Given the description of an element on the screen output the (x, y) to click on. 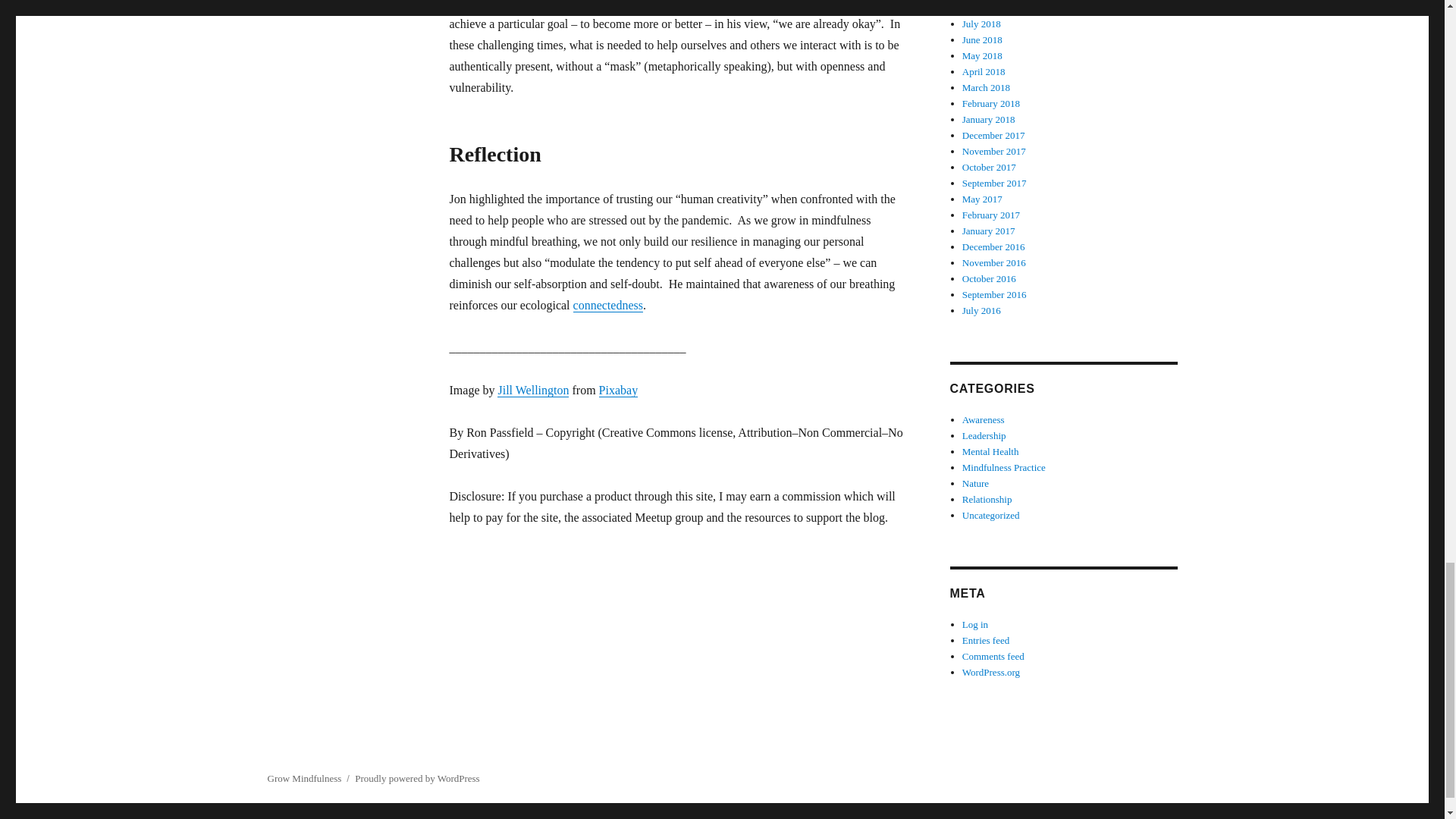
Jill Wellington (533, 390)
connectedness (608, 305)
Pixabay (618, 390)
